Given the description of an element on the screen output the (x, y) to click on. 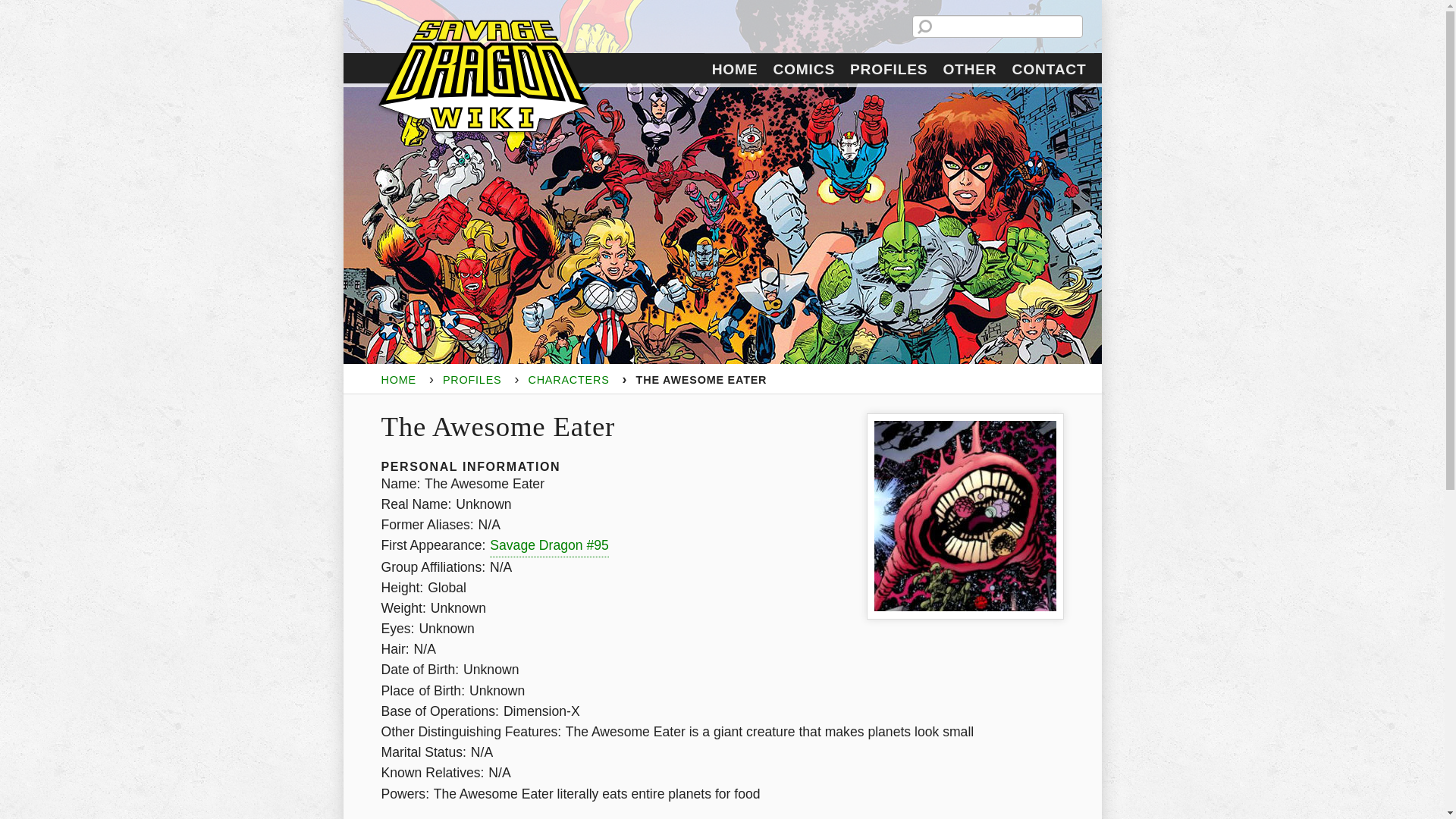
Go to Profiles (472, 378)
CHARACTERS (567, 378)
Go to Home (397, 378)
Go to Characters (567, 378)
PROFILES (472, 378)
Search (16, 5)
HOME (397, 378)
